Given the description of an element on the screen output the (x, y) to click on. 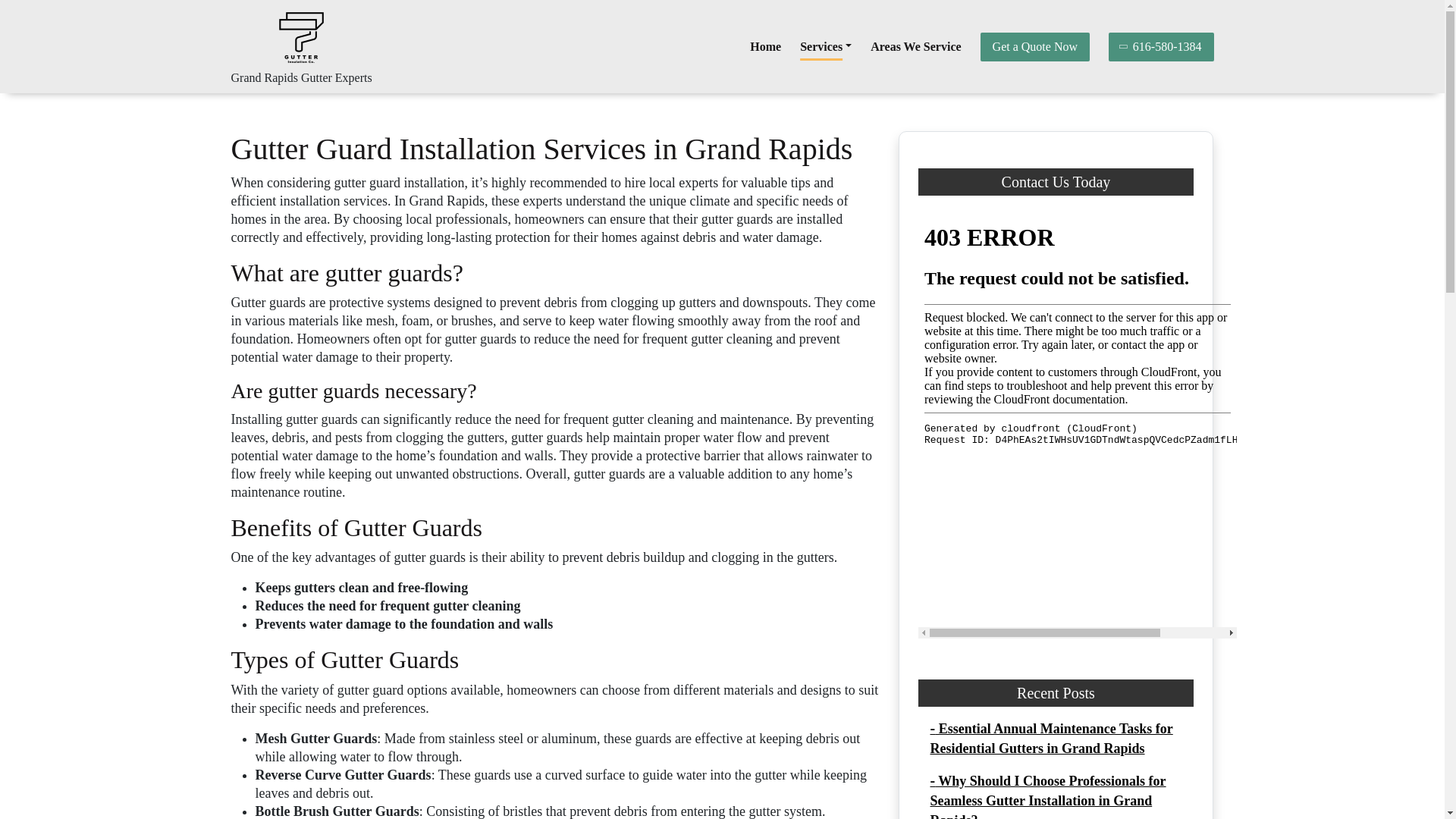
616-580-1384 (1161, 45)
Get a Quote Now (1034, 45)
Areas We Service (915, 46)
Home (764, 46)
Areas We Service (915, 46)
Services (825, 46)
Grand Rapids Gutter Experts (300, 77)
Services (825, 46)
Home (764, 46)
